Given the description of an element on the screen output the (x, y) to click on. 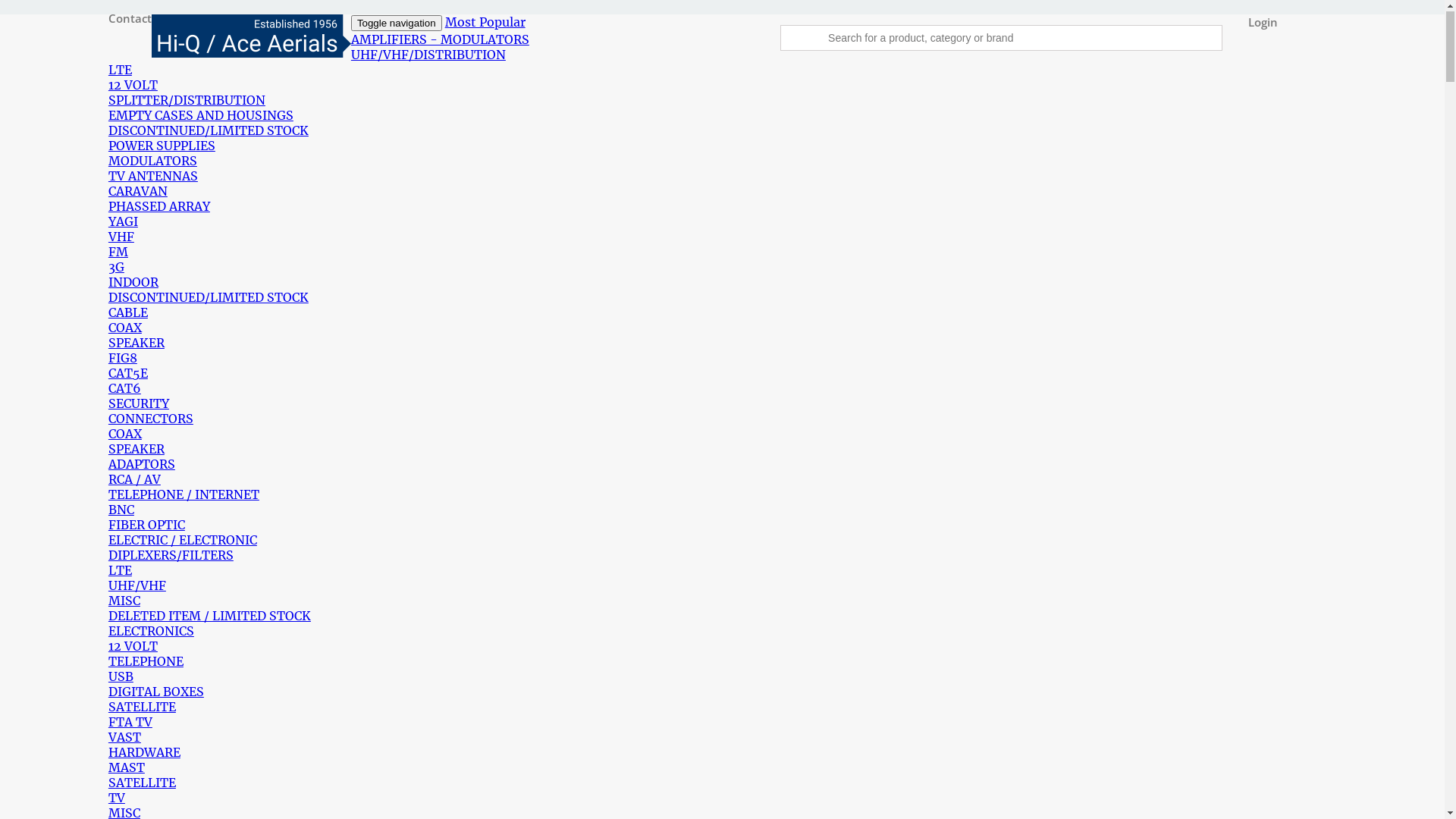
ELECTRONICS Element type: text (151, 631)
DISCONTINUED/LIMITED STOCK Element type: text (208, 297)
SPEAKER Element type: text (136, 449)
VHF Element type: text (121, 236)
DIPLEXERS/FILTERS Element type: text (170, 555)
LTE Element type: text (119, 570)
12 VOLT Element type: text (132, 85)
HARDWARE Element type: text (144, 752)
MODULATORS Element type: text (152, 161)
DIGITAL BOXES Element type: text (155, 691)
MISC Element type: text (124, 600)
USB Element type: text (120, 676)
UHF/VHF/DISTRIBUTION Element type: text (428, 54)
BNC Element type: text (121, 509)
ADAPTORS Element type: text (141, 464)
CABLE Element type: text (127, 312)
AMPLIFIERS - MODULATORS Element type: text (440, 39)
MAST Element type: text (126, 767)
SPLITTER/DISTRIBUTION Element type: text (186, 100)
COAX Element type: text (124, 327)
UHF/VHF Element type: text (137, 585)
FTA TV Element type: text (130, 722)
FIBER OPTIC Element type: text (146, 525)
SATELLITE Element type: text (141, 782)
COAX Element type: text (124, 434)
Contact Element type: text (129, 18)
TV ANTENNAS Element type: text (152, 176)
FM Element type: text (118, 252)
SECURITY Element type: text (138, 403)
Most Popular Element type: text (501, 22)
LTE Element type: text (119, 70)
RCA / AV Element type: text (134, 479)
DISCONTINUED/LIMITED STOCK Element type: text (208, 130)
FIG8 Element type: text (122, 358)
Login Element type: text (1262, 22)
INDOOR Element type: text (133, 282)
TELEPHONE / INTERNET Element type: text (183, 494)
CONNECTORS Element type: text (150, 418)
DELETED ITEM / LIMITED STOCK Element type: text (209, 616)
12 VOLT Element type: text (132, 646)
POWER SUPPLIES Element type: text (161, 145)
TV Element type: text (116, 798)
SATELLITE Element type: text (141, 707)
Toggle navigation Element type: text (396, 23)
SPEAKER Element type: text (136, 343)
CAT6 Element type: text (124, 388)
TELEPHONE Element type: text (145, 661)
CARAVAN Element type: text (137, 191)
CAT5E Element type: text (127, 373)
PHASSED ARRAY Element type: text (159, 206)
ELECTRIC / ELECTRONIC Element type: text (182, 540)
VAST Element type: text (124, 737)
3G Element type: text (116, 267)
EMPTY CASES AND HOUSINGS Element type: text (200, 115)
YAGI Element type: text (123, 221)
